Given the description of an element on the screen output the (x, y) to click on. 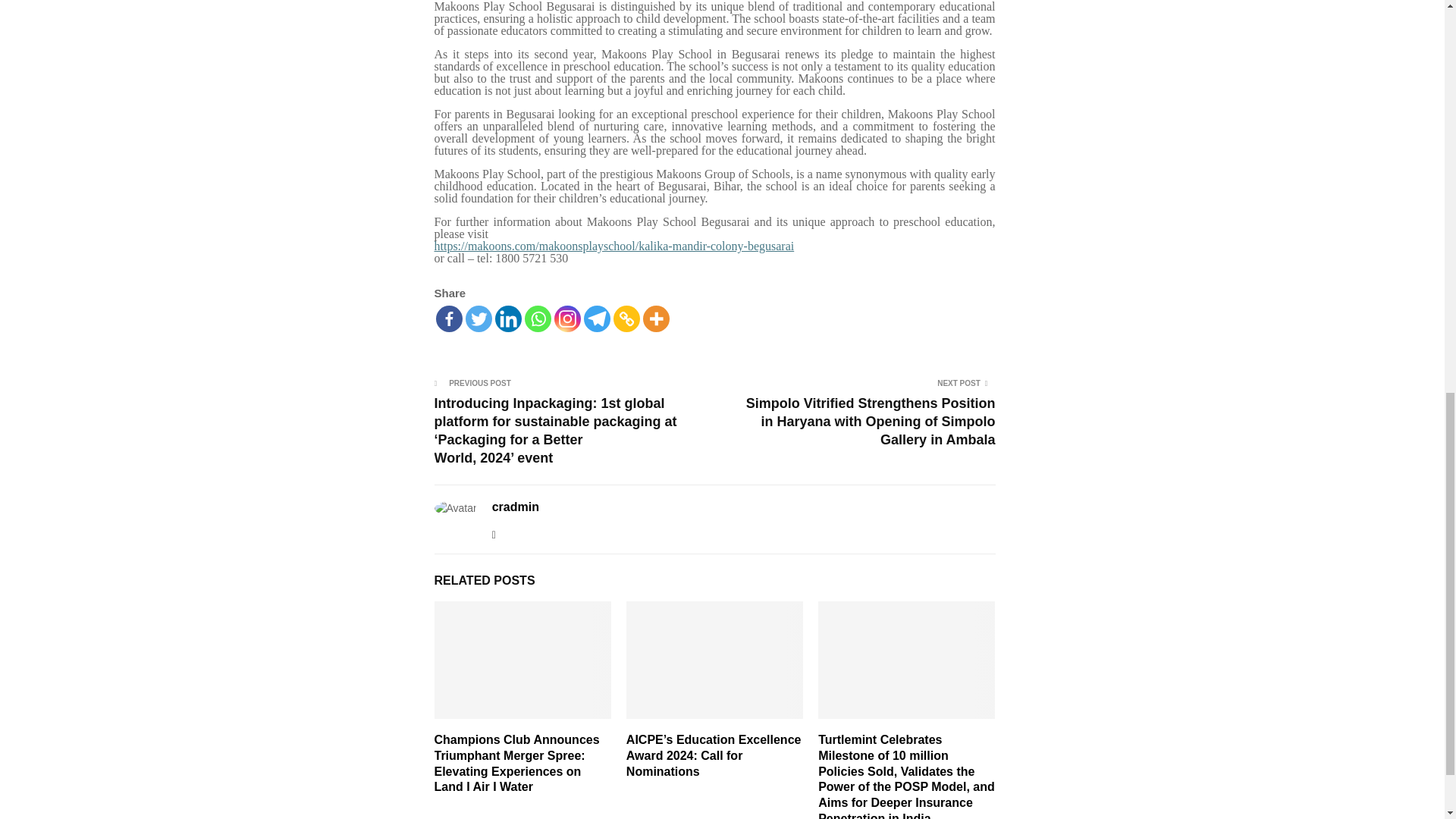
Facebook (448, 318)
Twitter (478, 318)
Linkedin (508, 318)
